Given the description of an element on the screen output the (x, y) to click on. 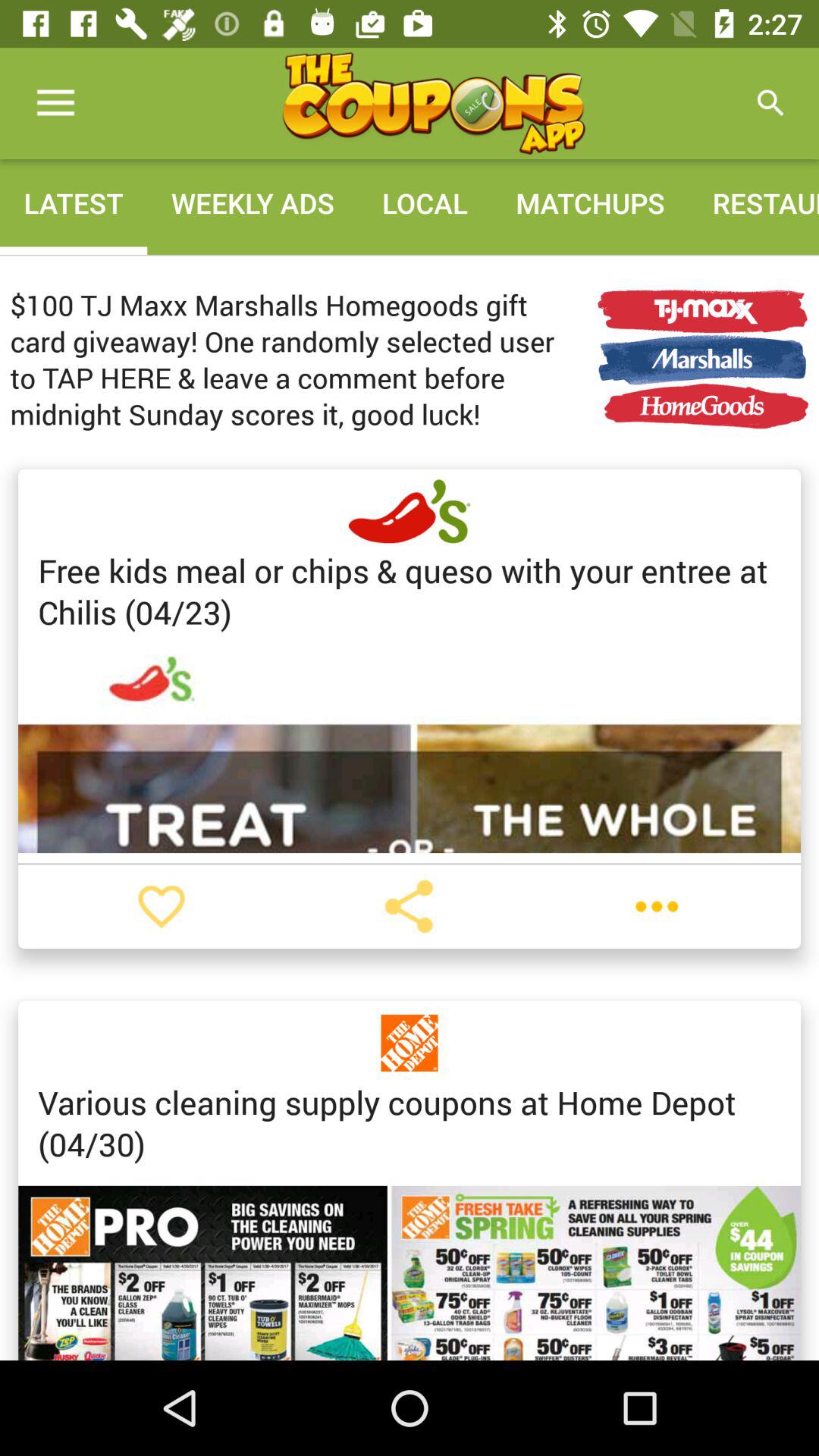
select menu (656, 906)
